Given the description of an element on the screen output the (x, y) to click on. 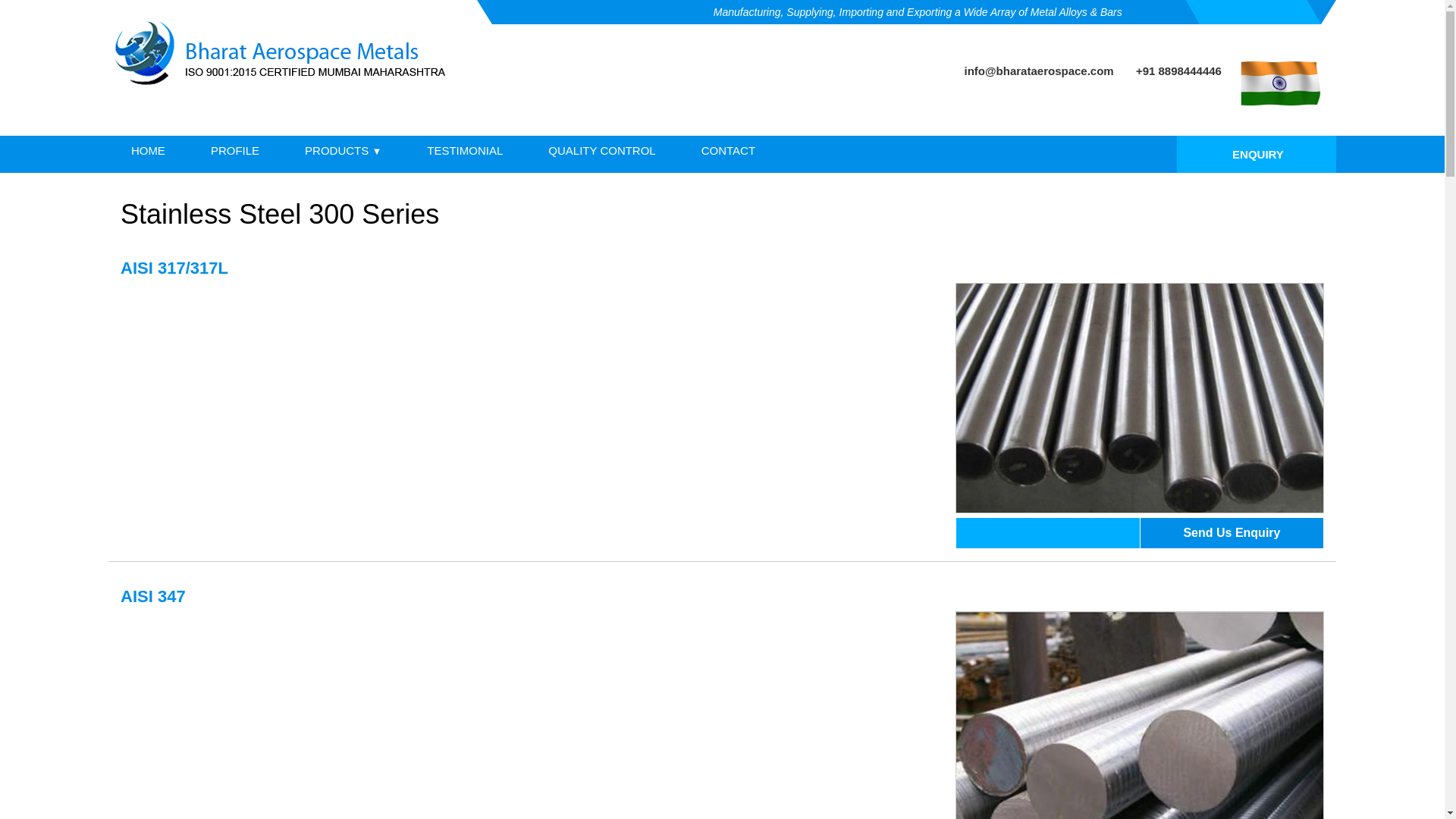
 ENQUIRY Element type: text (1256, 159)
info@bharataerospace.com Element type: text (1038, 70)
QUALITY CONTROL Element type: text (601, 149)
PROFILE Element type: text (235, 149)
CONTACT Element type: text (728, 149)
HOME Element type: text (148, 149)
TESTIMONIAL Element type: text (464, 149)
Send Us Enquiry Element type: text (1232, 532)
